Given the description of an element on the screen output the (x, y) to click on. 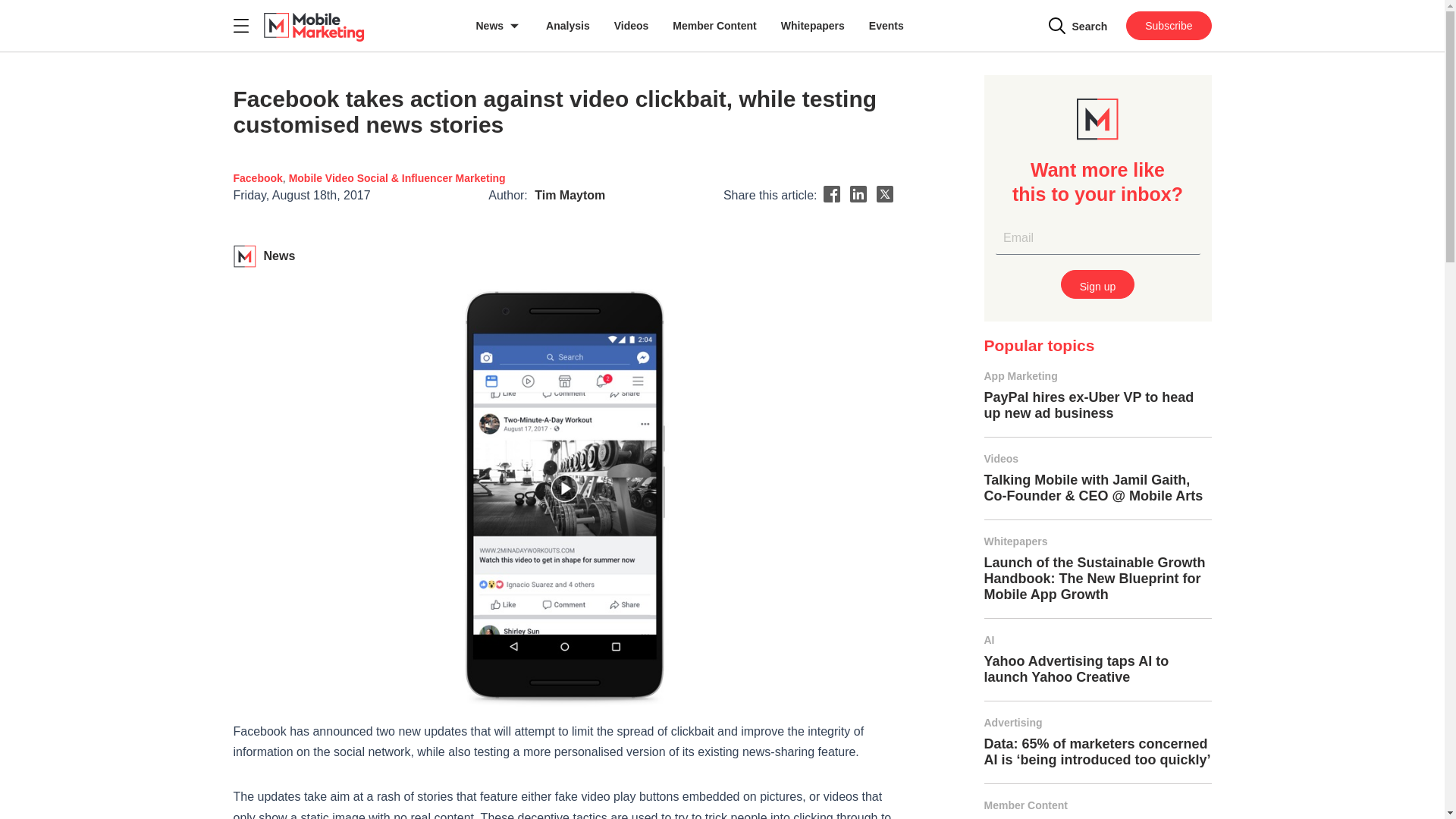
Sign up (1097, 284)
News (499, 25)
